Given the description of an element on the screen output the (x, y) to click on. 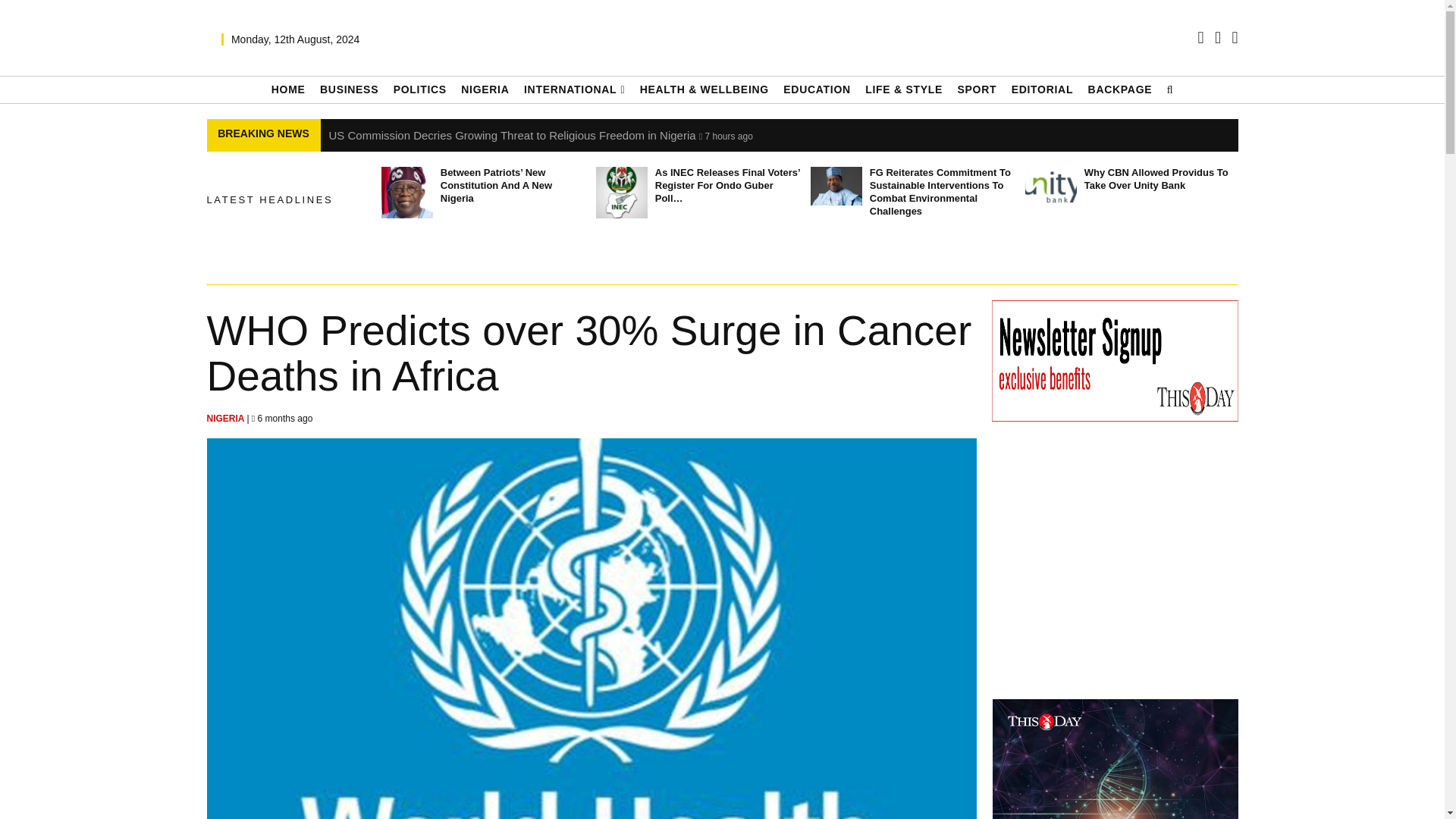
BUSINESS (349, 89)
EDITORIAL (1042, 89)
NIGERIA (484, 89)
EDUCATION (816, 89)
INTERNATIONAL (574, 89)
SPORT (975, 89)
POLITICS (419, 89)
Why CBN Allowed Providus to Take Over Unity Bank (1051, 192)
HOME (287, 89)
